Given the description of an element on the screen output the (x, y) to click on. 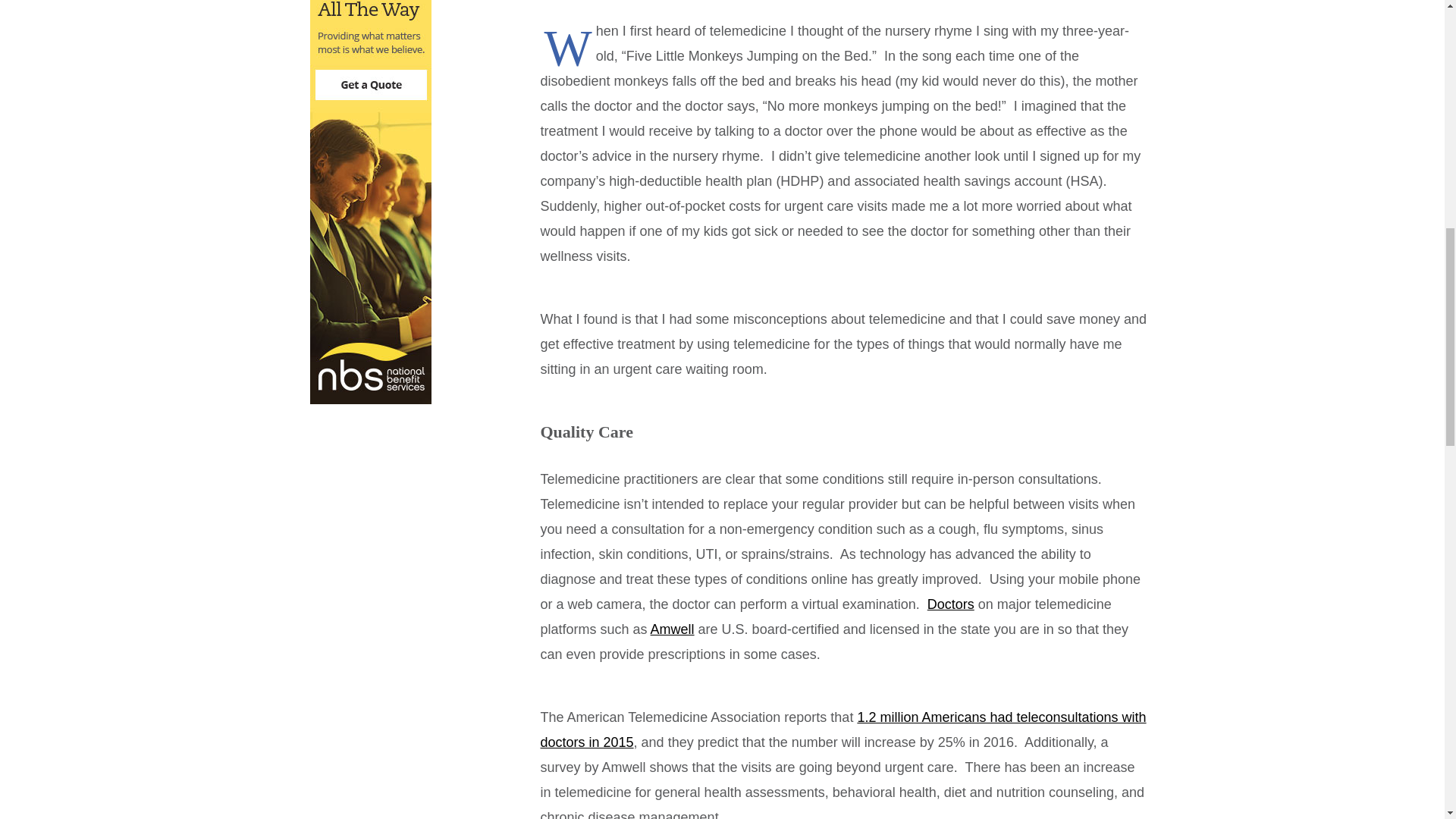
Amwell (672, 629)
Doctors (950, 604)
